Given the description of an element on the screen output the (x, y) to click on. 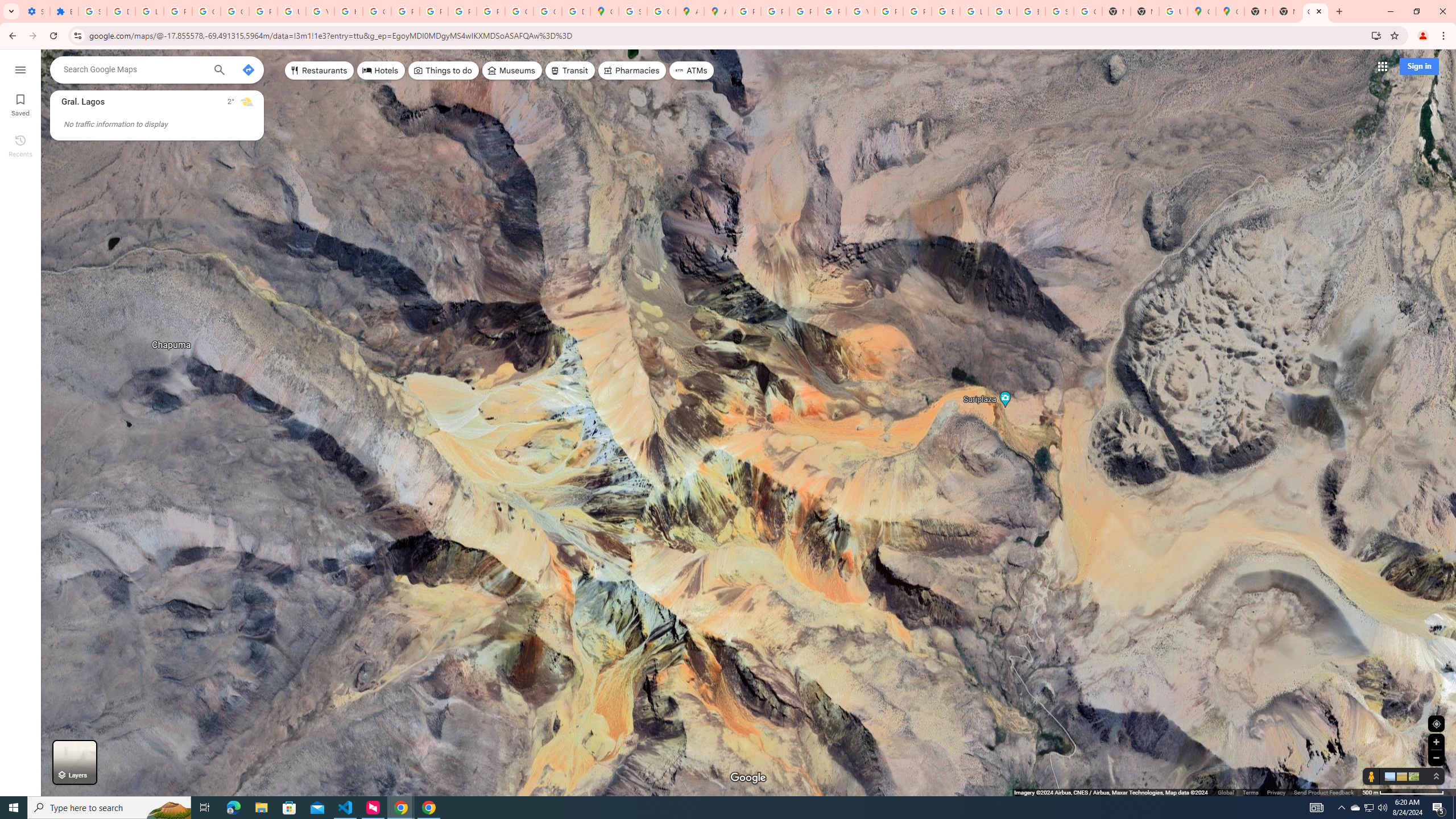
Search Google Maps (133, 69)
Recents (20, 145)
Terms (1249, 792)
Menu (20, 68)
500 m (1403, 792)
Browse Chrome as a guest - Computer - Google Chrome Help (945, 11)
Pharmacies (632, 70)
Museums (511, 70)
